Given the description of an element on the screen output the (x, y) to click on. 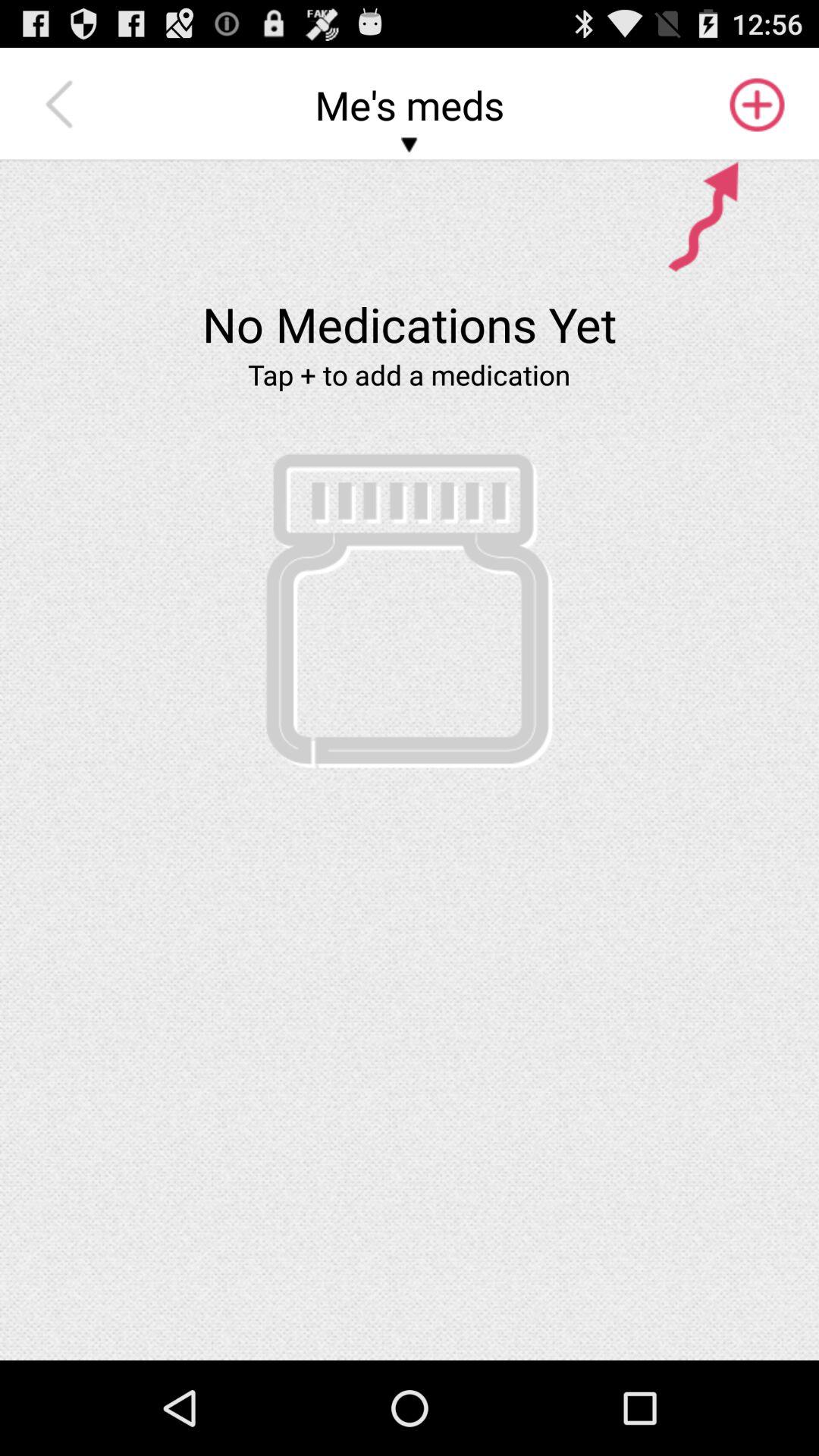
open the item to the left of me's meds (63, 104)
